Given the description of an element on the screen output the (x, y) to click on. 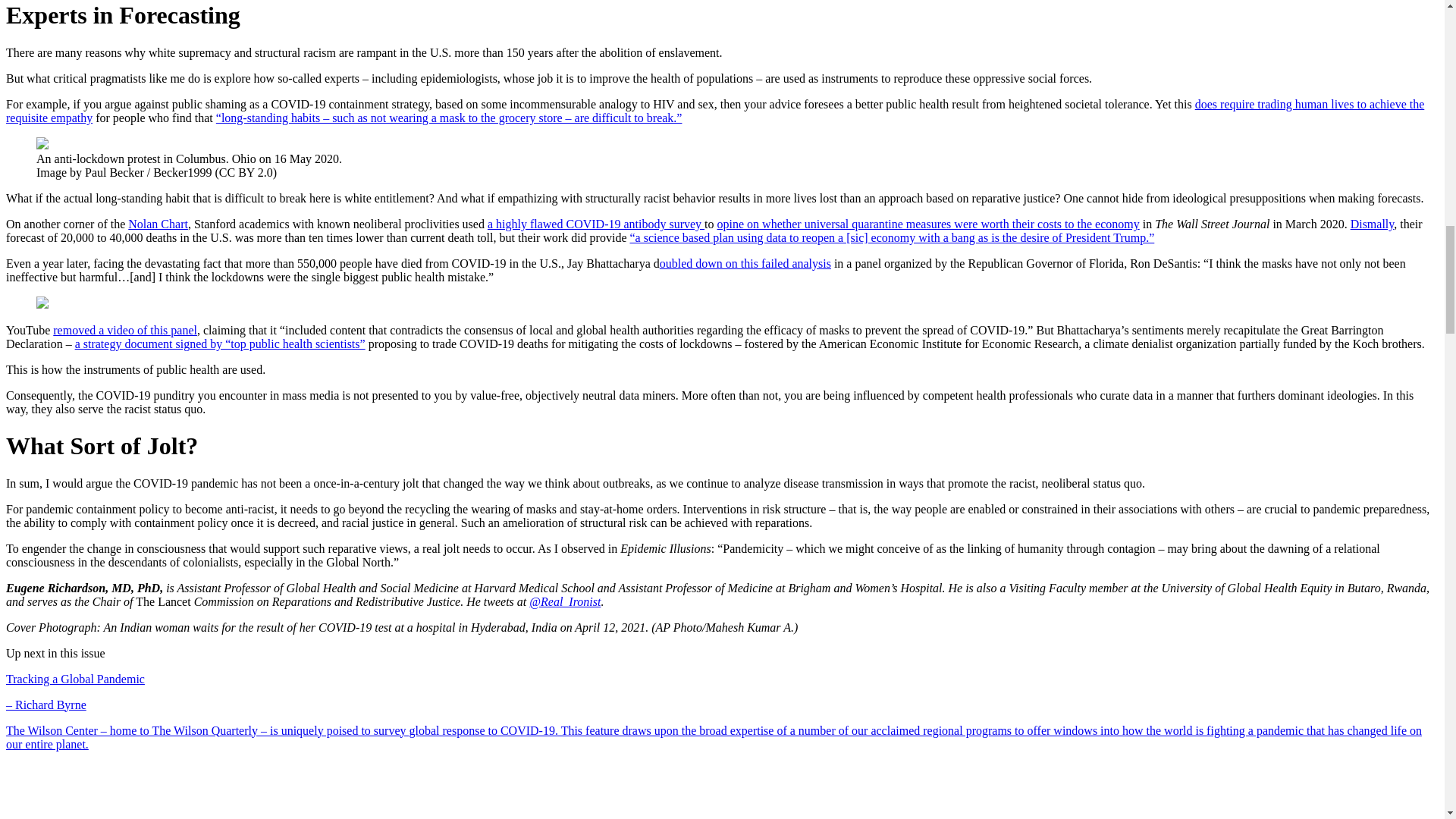
a highly flawed COVID-19 antibody survey (595, 223)
removed a video of this panel (124, 329)
oubled down on this failed analysis (745, 263)
null (448, 117)
null (1372, 223)
null (124, 329)
null (157, 223)
Dismally (1372, 223)
